Given the description of an element on the screen output the (x, y) to click on. 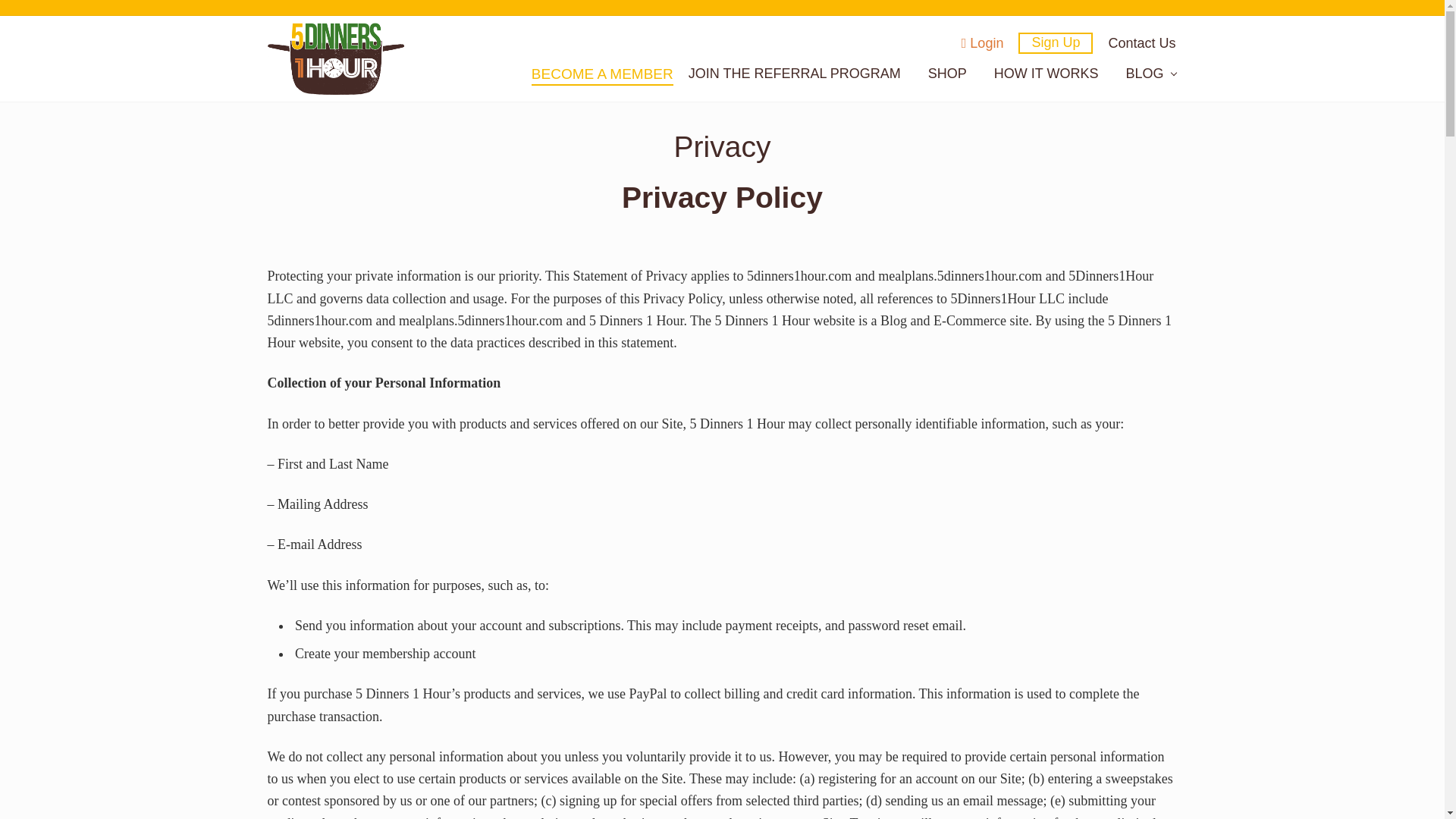
Login (982, 43)
SHOP (946, 73)
BLOG (1150, 73)
JOIN THE REFERRAL PROGRAM (794, 73)
HOW IT WORKS (1045, 73)
Contact Us (1142, 43)
Sign Up (1055, 43)
BECOME A MEMBER (601, 74)
